Given the description of an element on the screen output the (x, y) to click on. 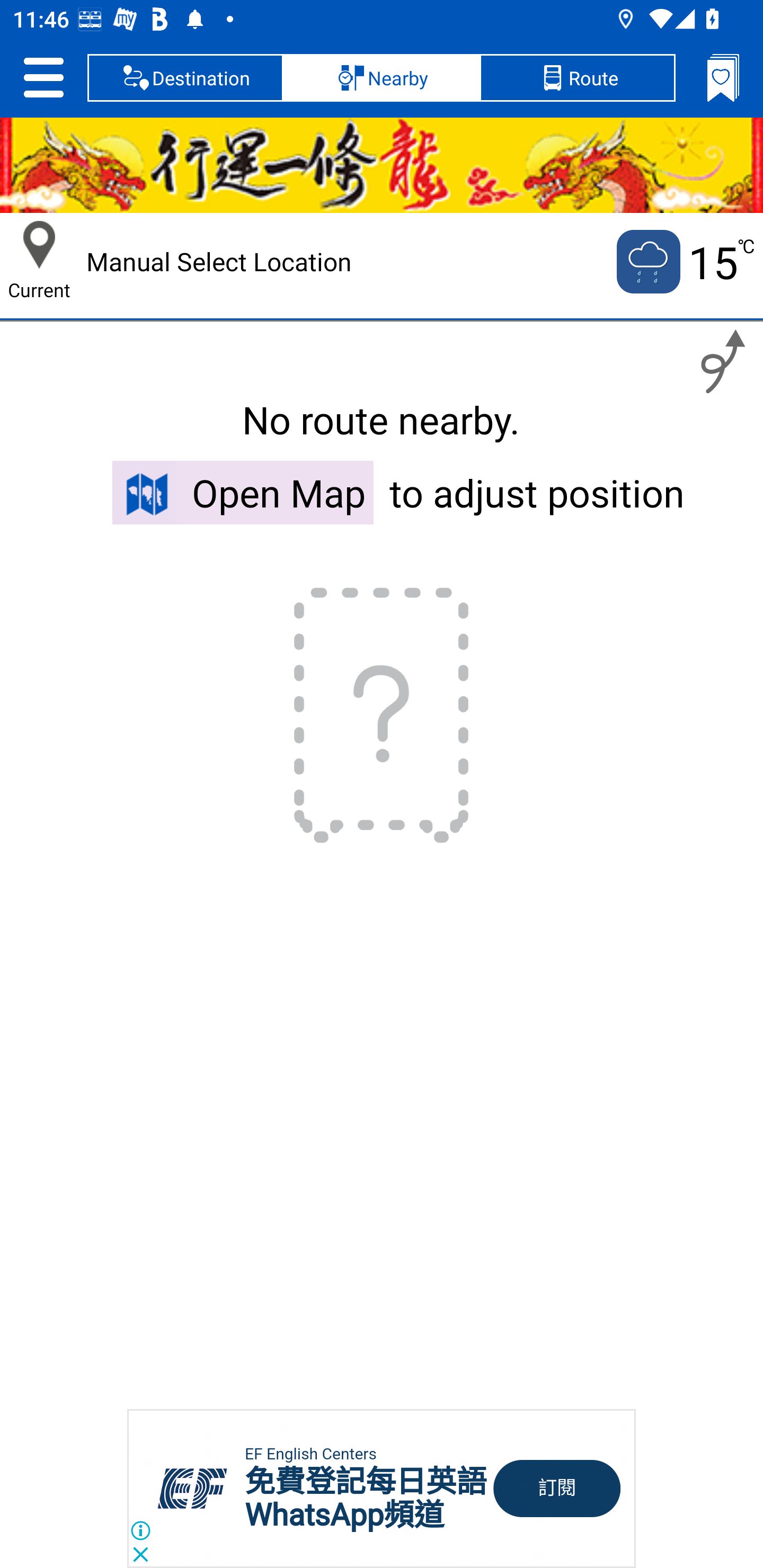
Destination (185, 77)
Nearby, selected (381, 77)
Route (577, 77)
Bookmarks (723, 77)
Setting (43, 77)
Lunar New Year 2024 (381, 165)
Current Location (38, 244)
Current temputure is  15  no 15 ℃ (684, 261)
Open Map (242, 491)
EF English Centers (310, 1454)
訂閱 (556, 1488)
免費登記每日英語 WhatsApp頻道 免費登記每日英語 WhatsApp頻道 (365, 1497)
